Given the description of an element on the screen output the (x, y) to click on. 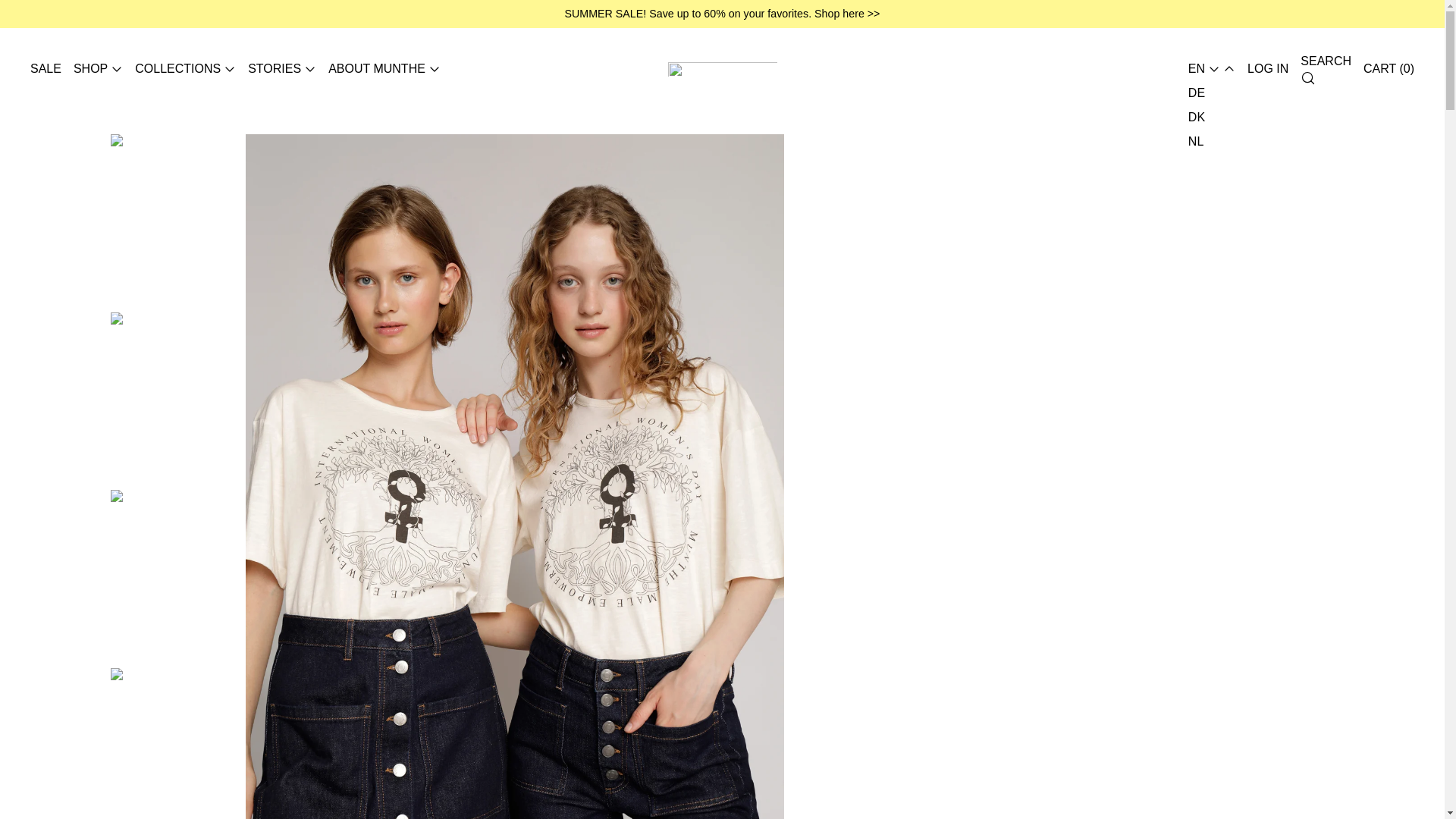
NL (1196, 141)
DE (1196, 93)
STORIES (281, 68)
SHOP (98, 68)
LOG IN (1267, 68)
SALE (45, 68)
COLLECTIONS (185, 68)
ABOUT MUNTHE (385, 68)
DK (1196, 117)
SEARCH (1325, 68)
